Given the description of an element on the screen output the (x, y) to click on. 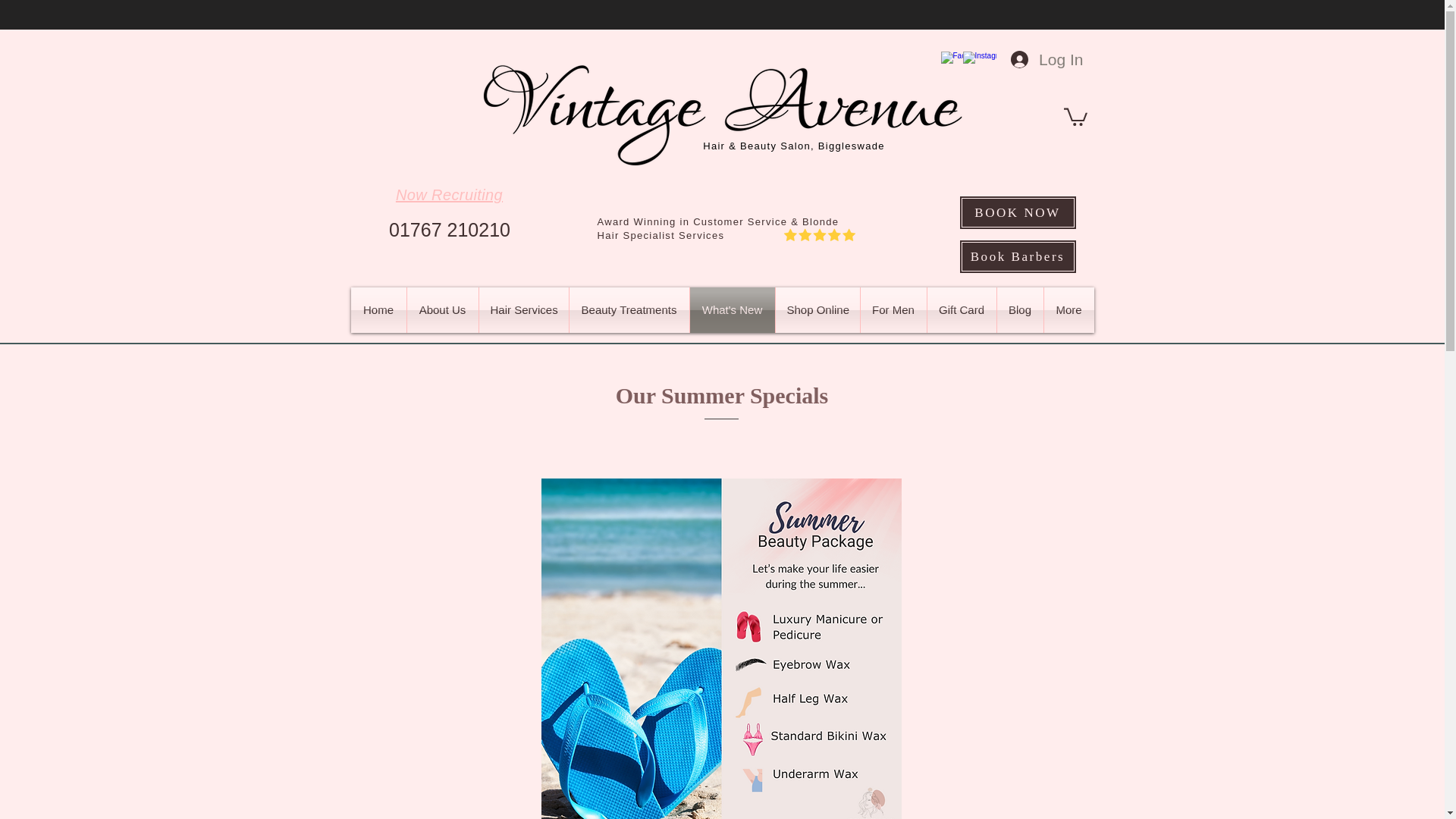
What's New (732, 309)
01767 210210 (449, 229)
Gift Card (960, 309)
BOOK NOW (1016, 212)
Blog (1018, 309)
About Us (441, 309)
For Men (893, 309)
Shop Online (816, 309)
Hair Services (524, 309)
Now Recruiting (449, 194)
Book Barbers (1016, 256)
Home (378, 309)
Beauty Treatments (628, 309)
Log In (1046, 59)
